Given the description of an element on the screen output the (x, y) to click on. 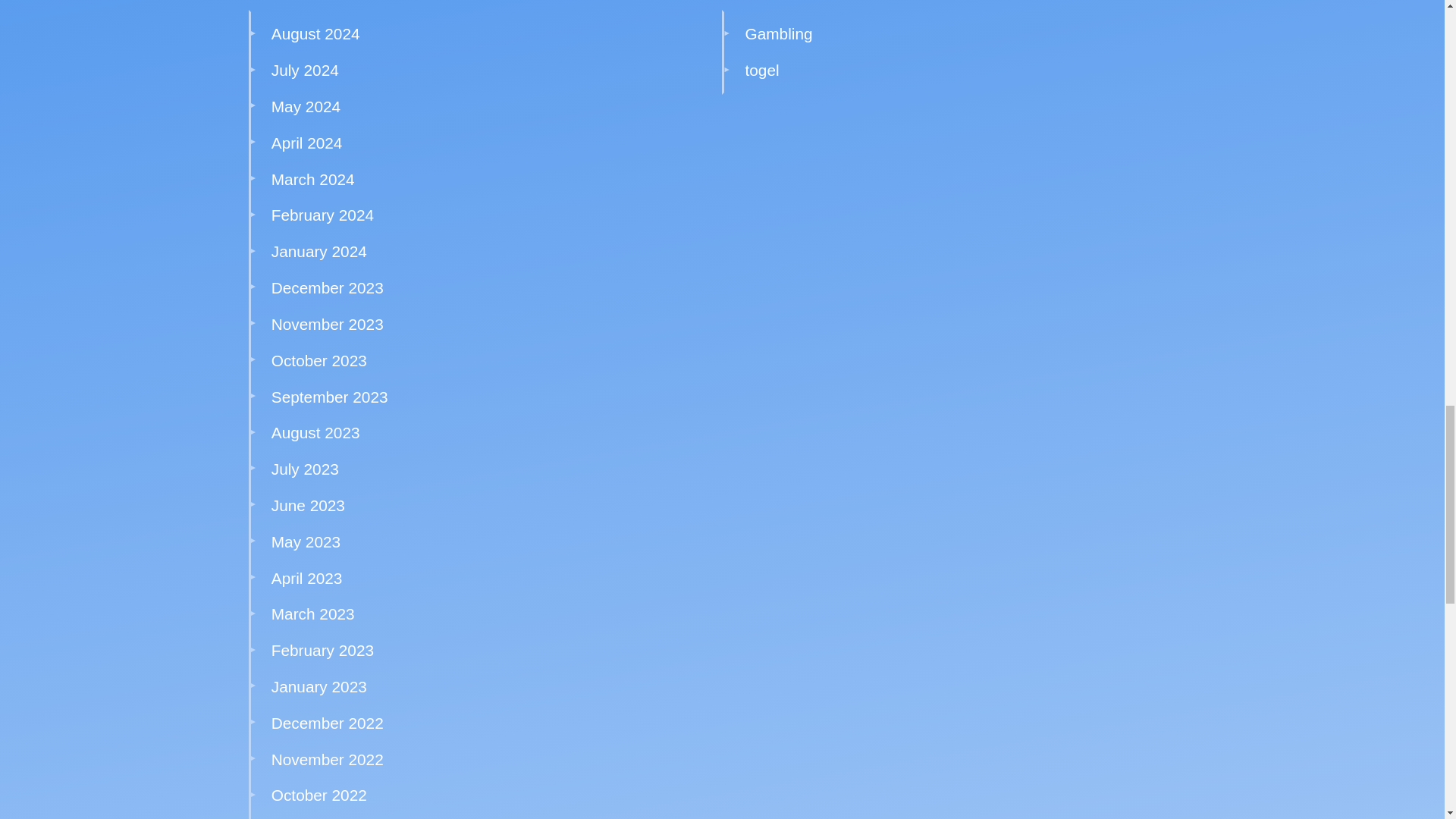
December 2022 (327, 723)
December 2023 (327, 287)
August 2023 (314, 432)
January 2023 (318, 686)
September 2023 (329, 396)
May 2023 (305, 541)
February 2024 (322, 214)
March 2023 (312, 613)
April 2023 (306, 578)
June 2023 (307, 505)
